Given the description of an element on the screen output the (x, y) to click on. 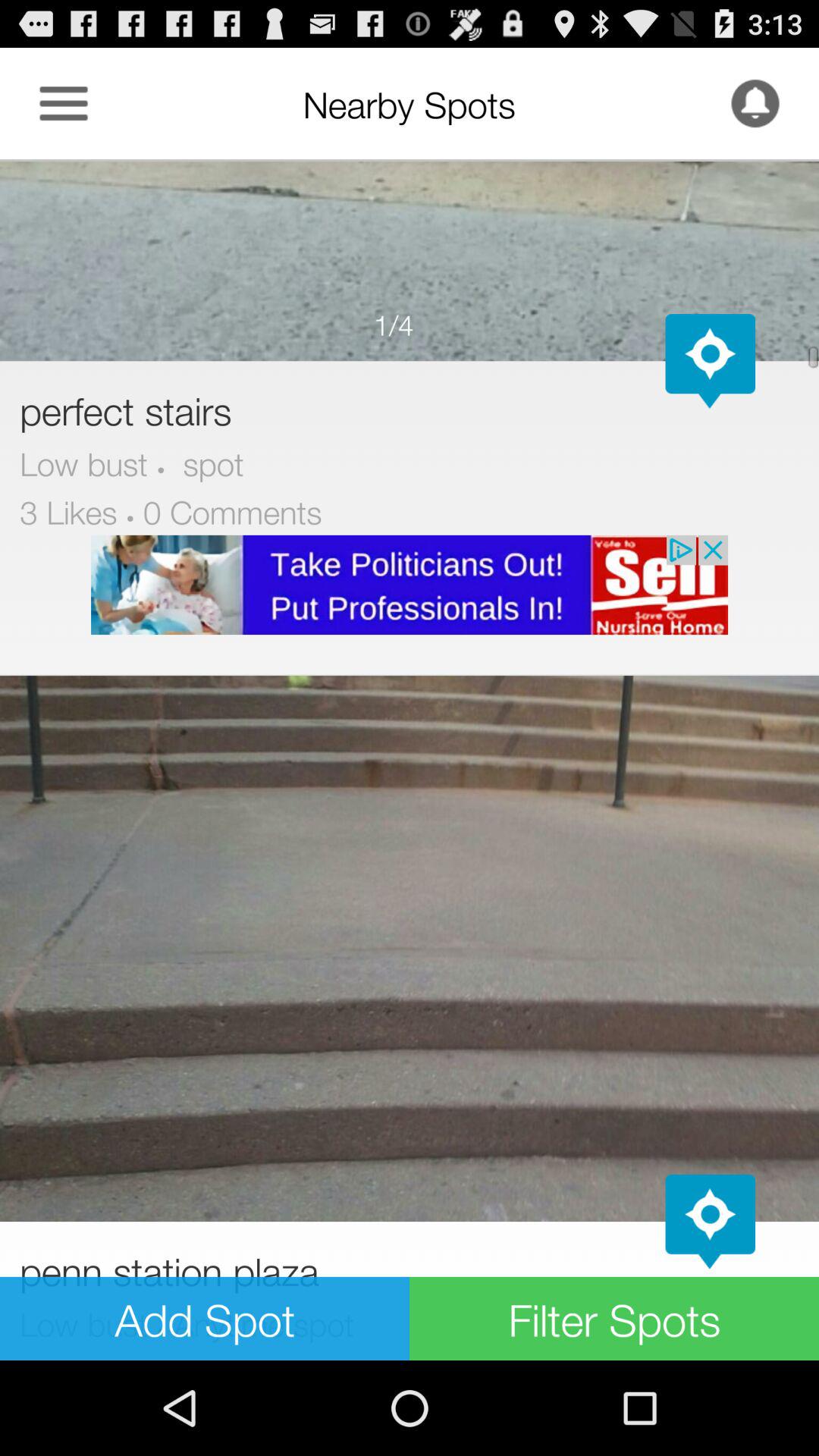
add location (710, 1221)
